Given the description of an element on the screen output the (x, y) to click on. 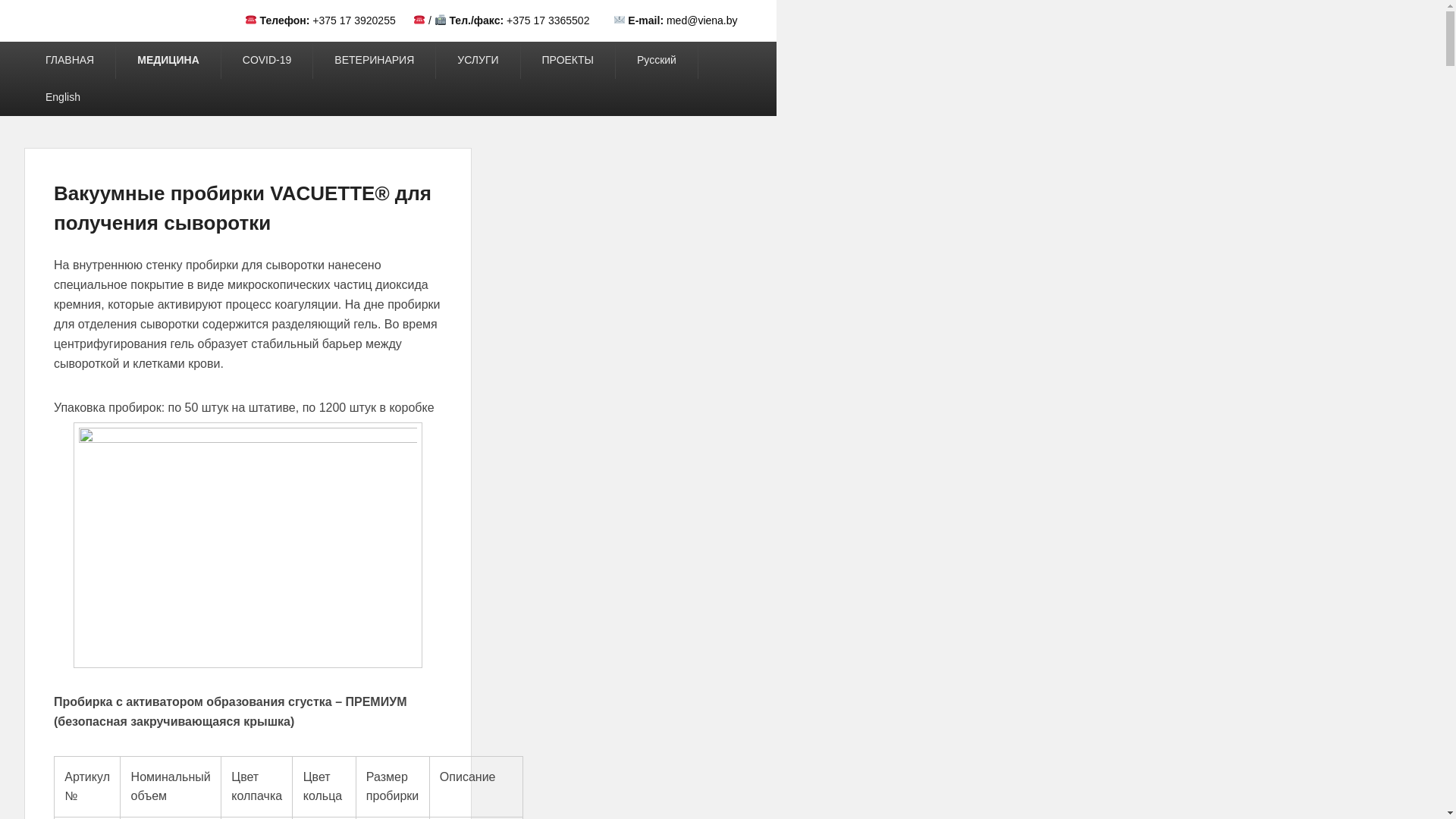
COVID-19 Element type: text (267, 59)
English Element type: text (62, 97)
med@viena.by Element type: text (701, 20)
